Given the description of an element on the screen output the (x, y) to click on. 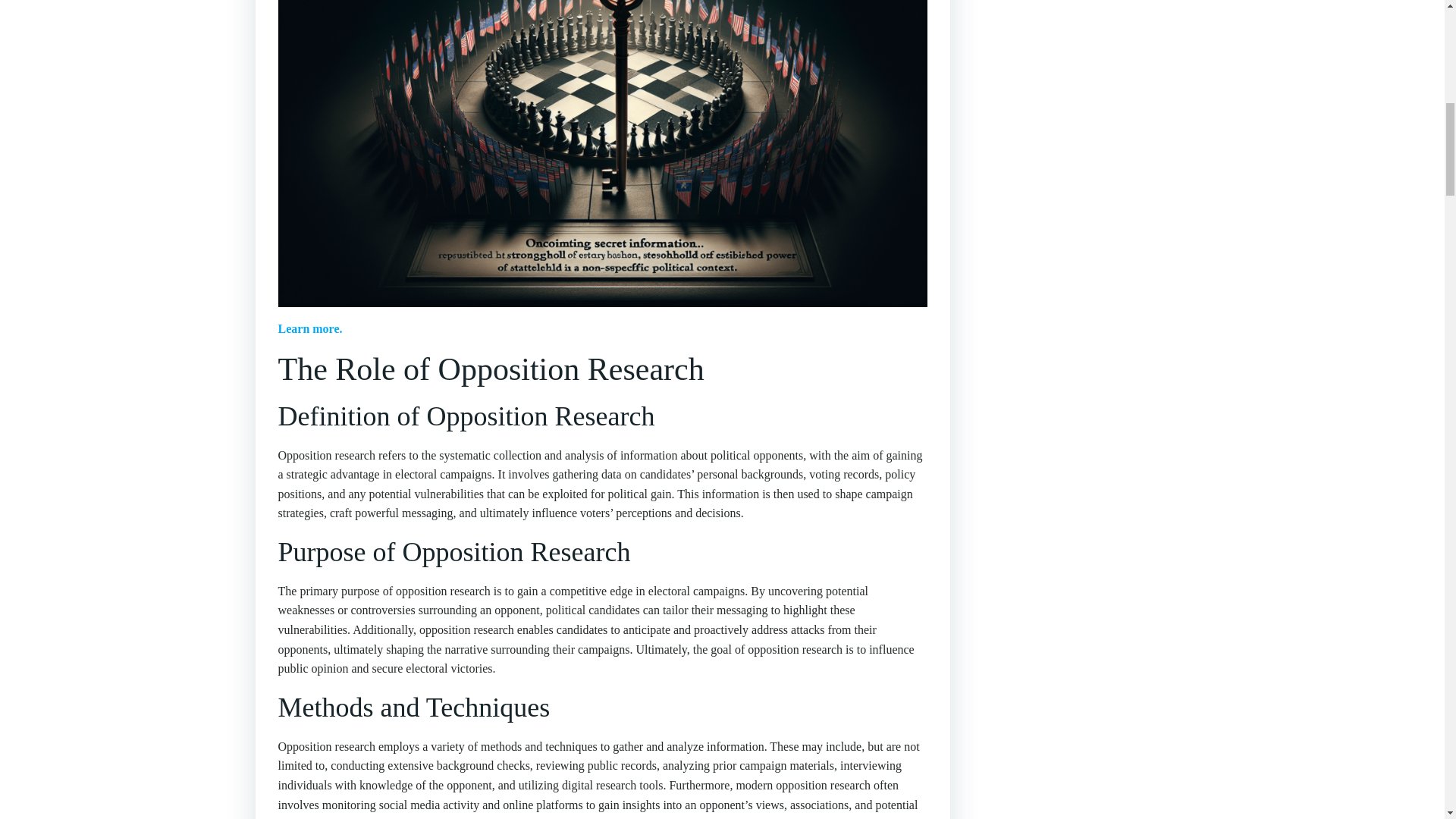
Get your own Learn more. today. (310, 328)
Learn more. (310, 328)
